Given the description of an element on the screen output the (x, y) to click on. 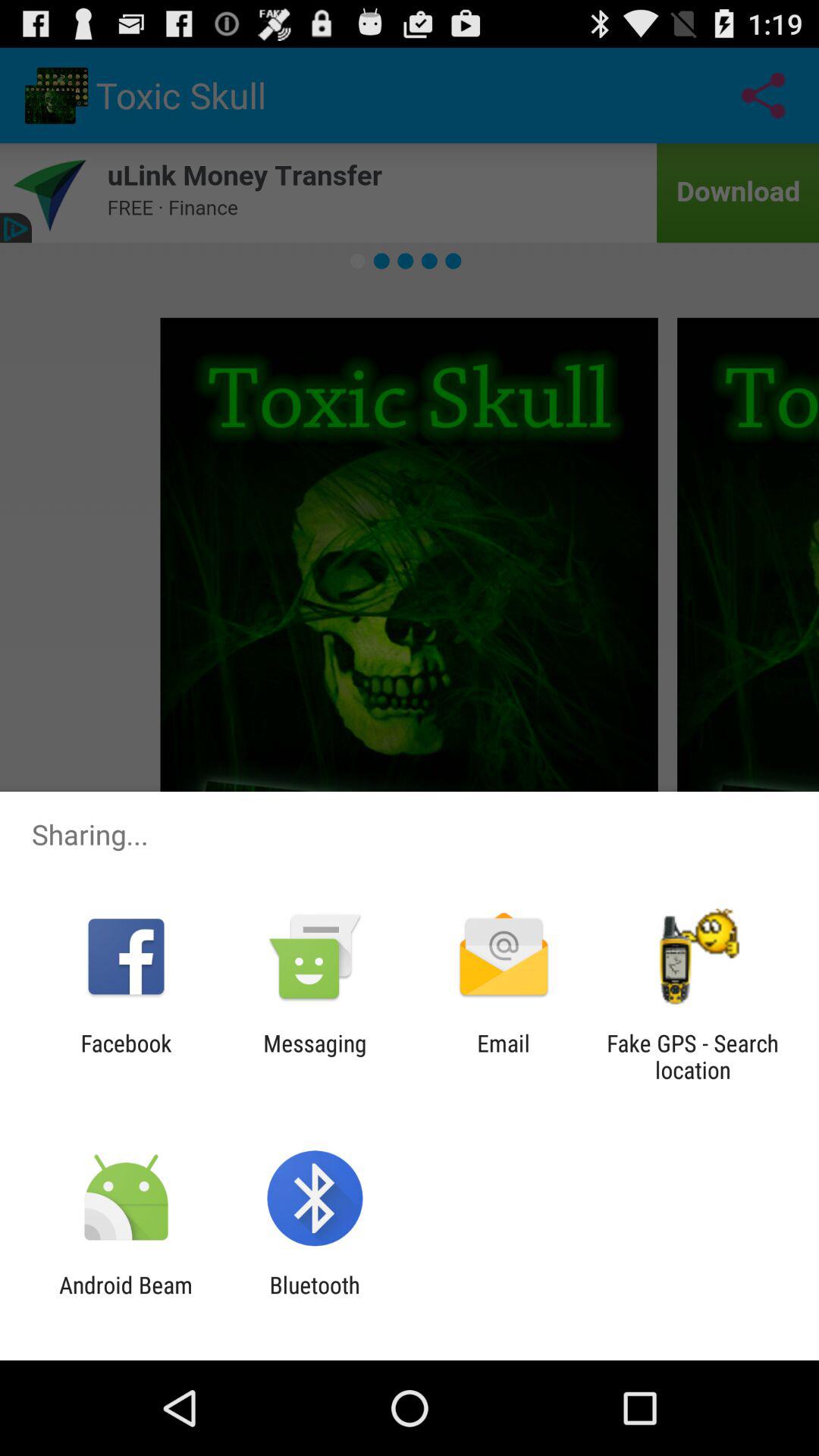
swipe until the facebook icon (125, 1056)
